Given the description of an element on the screen output the (x, y) to click on. 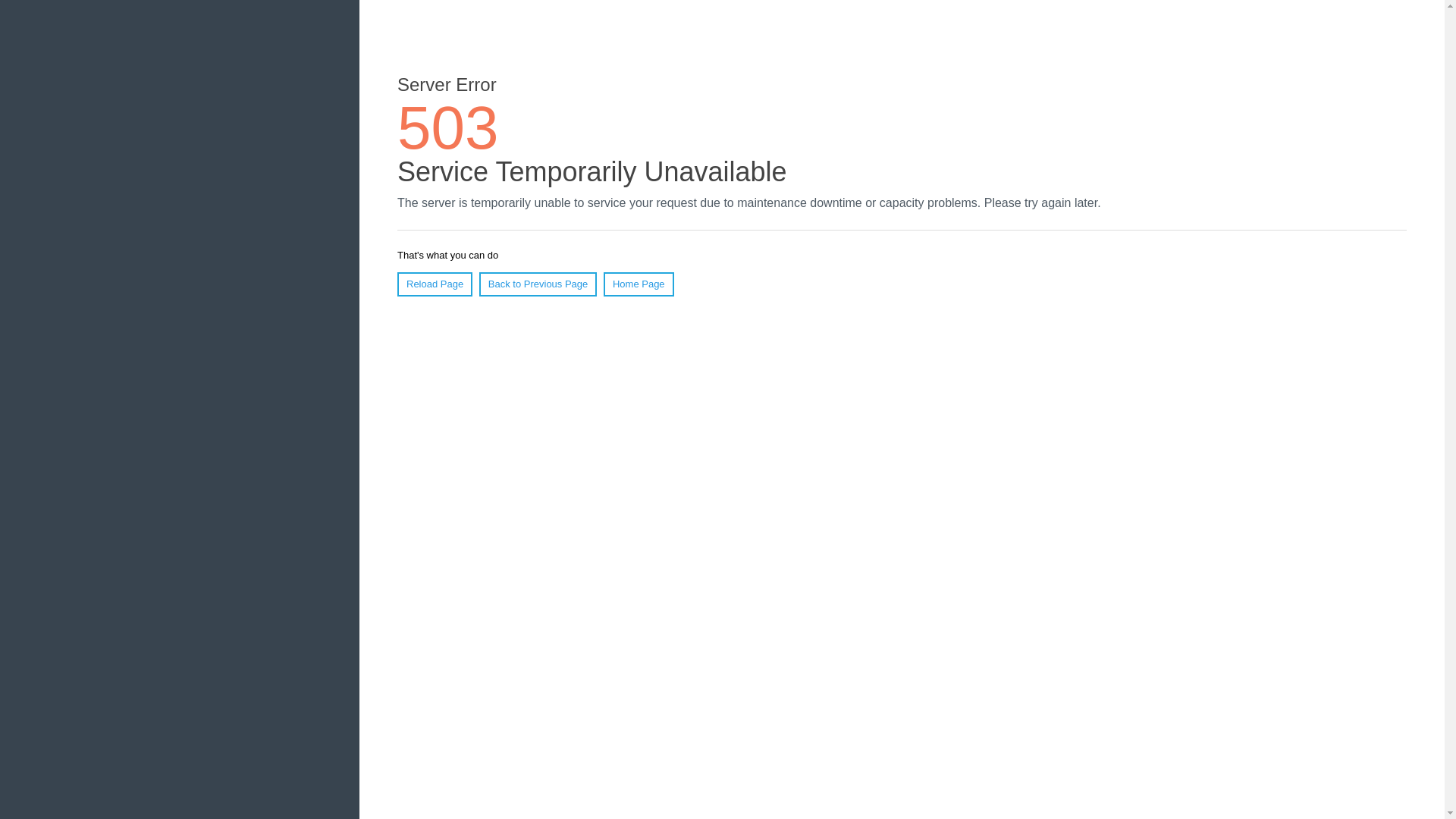
Home Page (639, 283)
Back to Previous Page (537, 283)
Reload Page (434, 283)
